Given the description of an element on the screen output the (x, y) to click on. 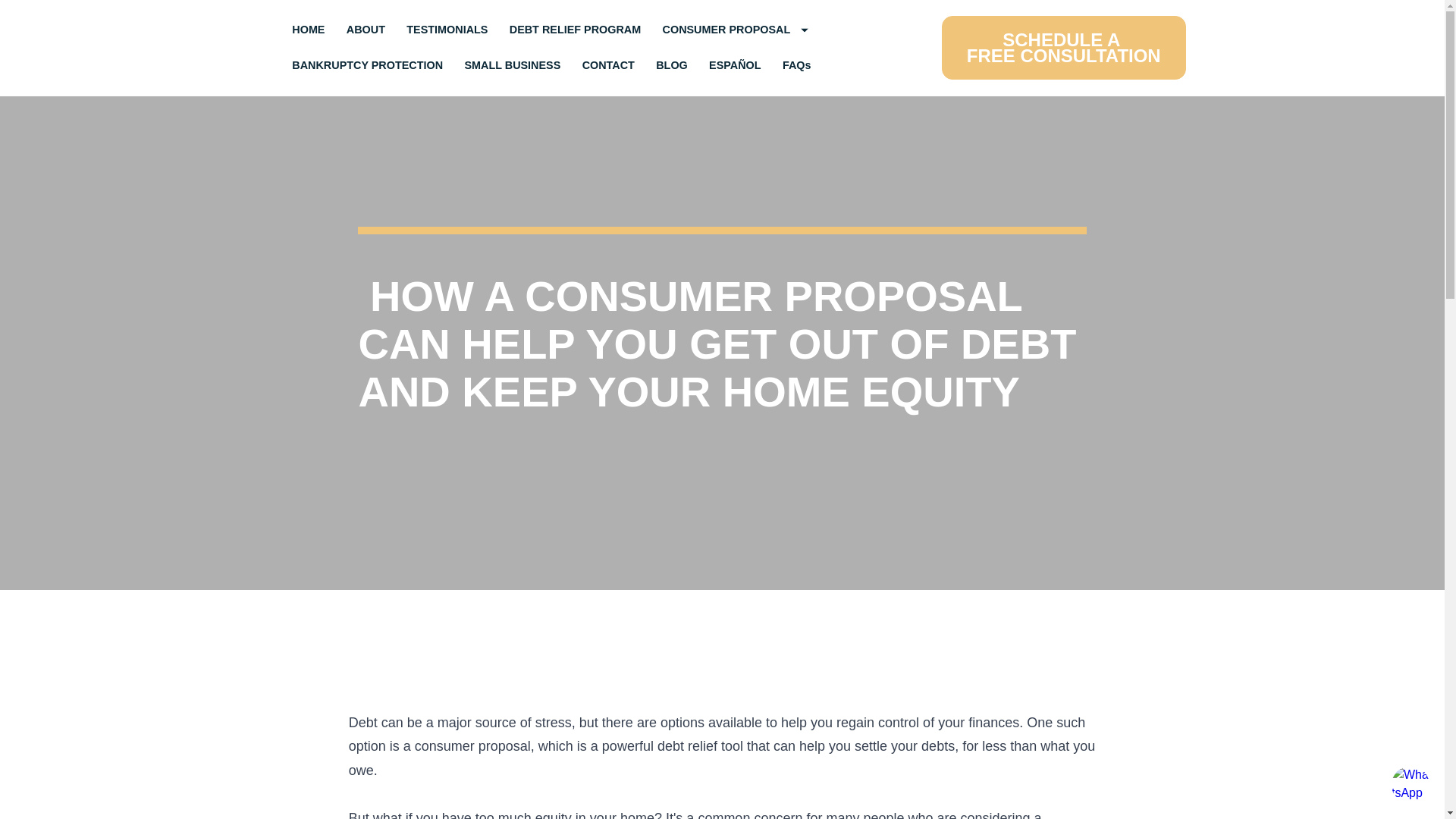
CONTACT (608, 65)
BANKRUPTCY PROTECTION (1064, 47)
DEBT RELIEF PROGRAM (367, 65)
SMALL BUSINESS (575, 29)
TESTIMONIALS (512, 65)
ABOUT (446, 29)
CONSUMER PROPOSAL (365, 29)
BLOG (735, 29)
HOME (671, 65)
